Given the description of an element on the screen output the (x, y) to click on. 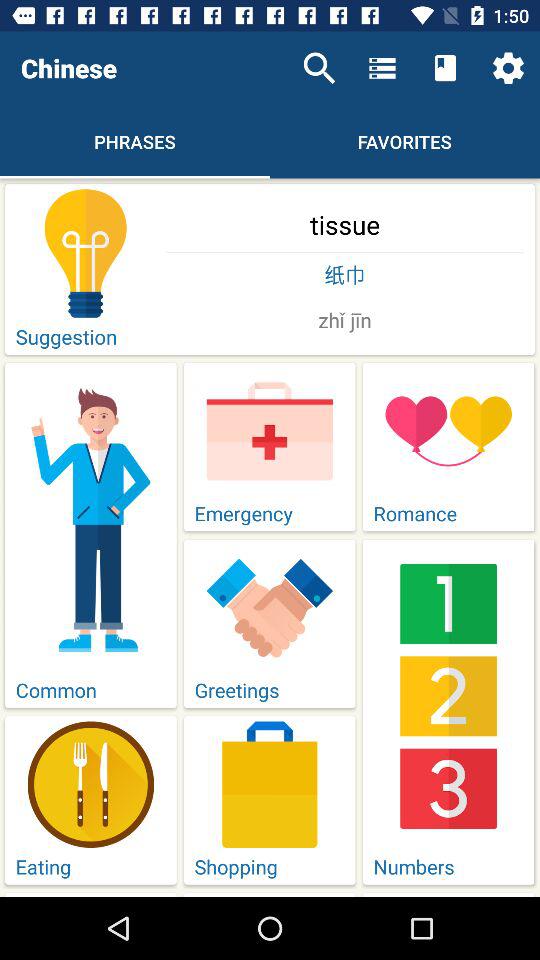
choose item above the favorites icon (381, 67)
